Given the description of an element on the screen output the (x, y) to click on. 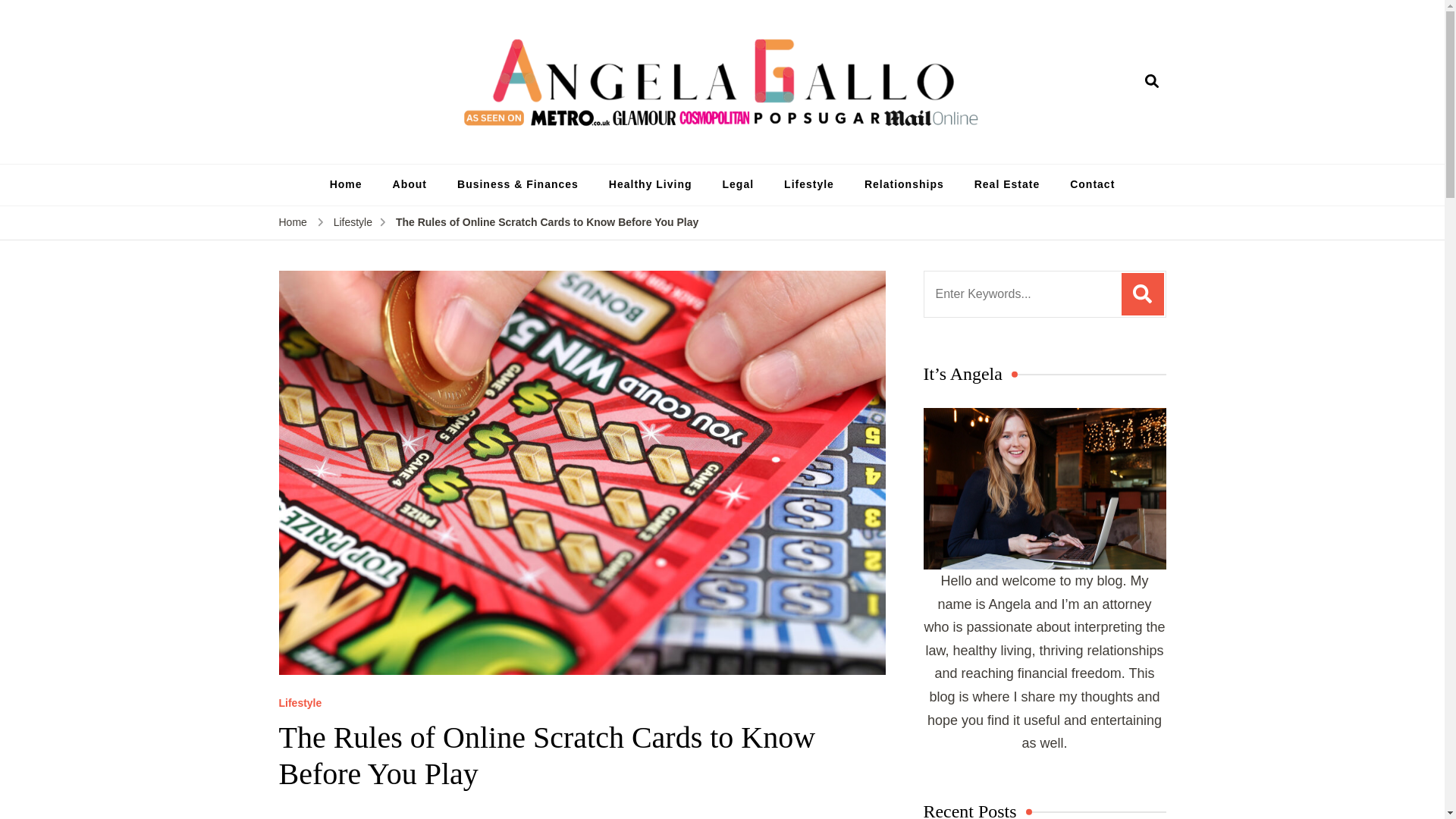
Real Estate (1006, 184)
Search (1141, 293)
Contact (1091, 184)
Angela Gallo's Blog (962, 151)
Home (345, 184)
Lifestyle (808, 184)
Relationships (903, 184)
Legal (738, 184)
Search (1141, 293)
The Rules of Online Scratch Cards to Know Before You Play (547, 222)
